Given the description of an element on the screen output the (x, y) to click on. 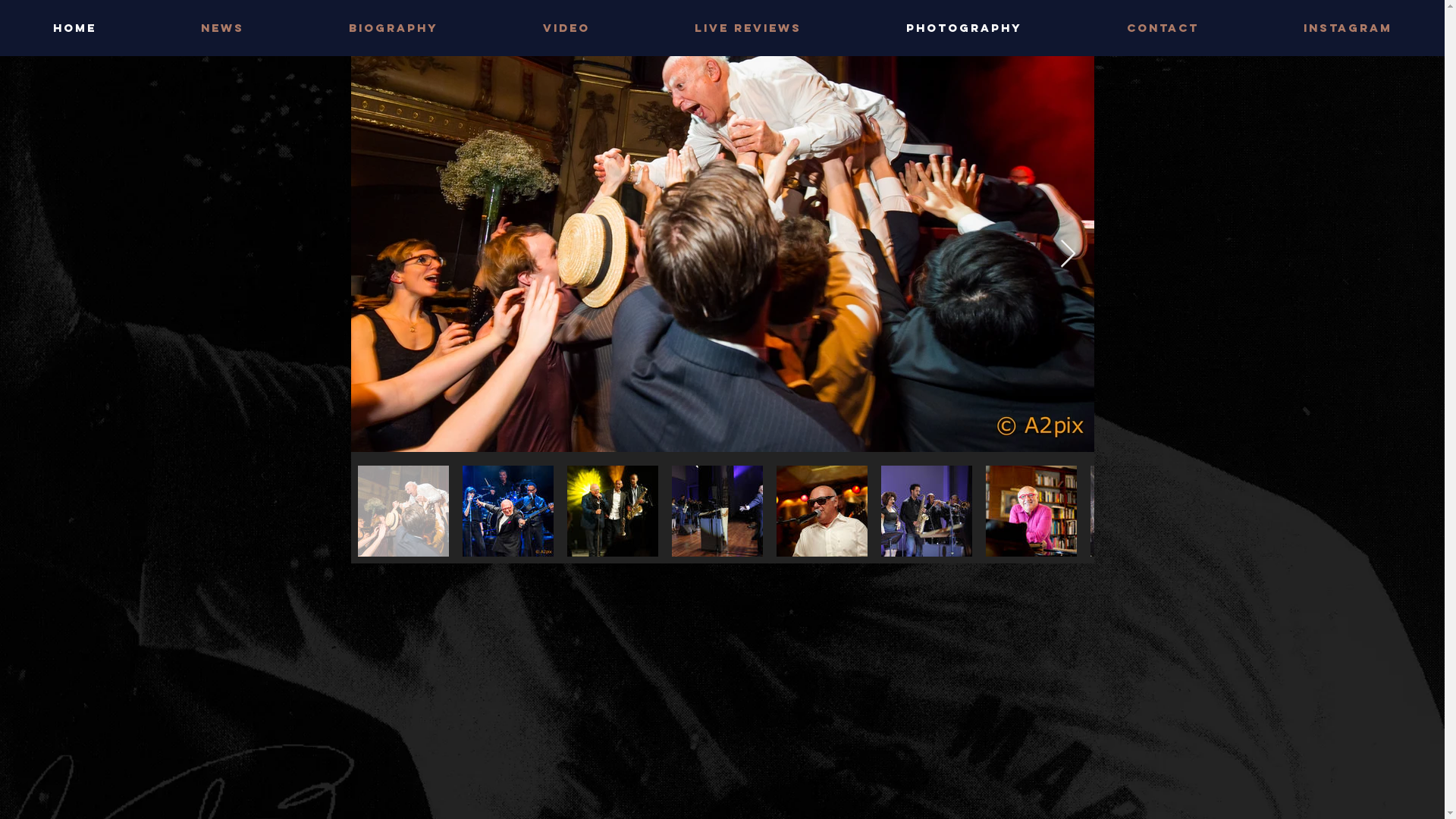
LIVE REVIEWS Element type: text (747, 27)
NEWS Element type: text (222, 27)
VIDEO Element type: text (566, 27)
HOME Element type: text (74, 27)
CONTACT Element type: text (1162, 27)
Instagram Element type: text (1347, 27)
PHOTOGRAPHY Element type: text (963, 27)
BIOGRAPHY Element type: text (393, 27)
